Given the description of an element on the screen output the (x, y) to click on. 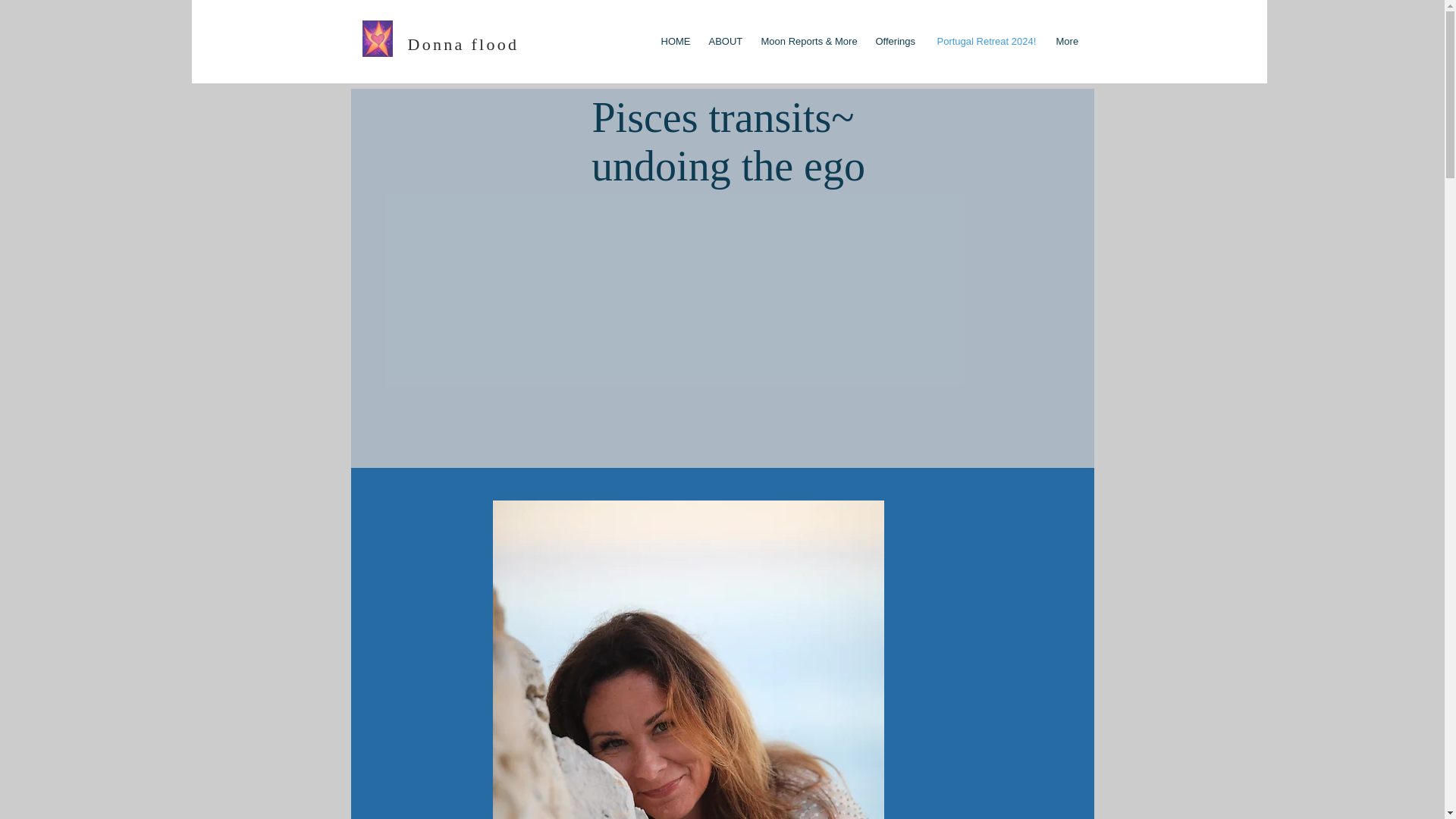
Donna flood (463, 44)
Offerings (895, 41)
ABOUT (723, 41)
HOME (673, 41)
Portugal Retreat 2024! (983, 41)
